Given the description of an element on the screen output the (x, y) to click on. 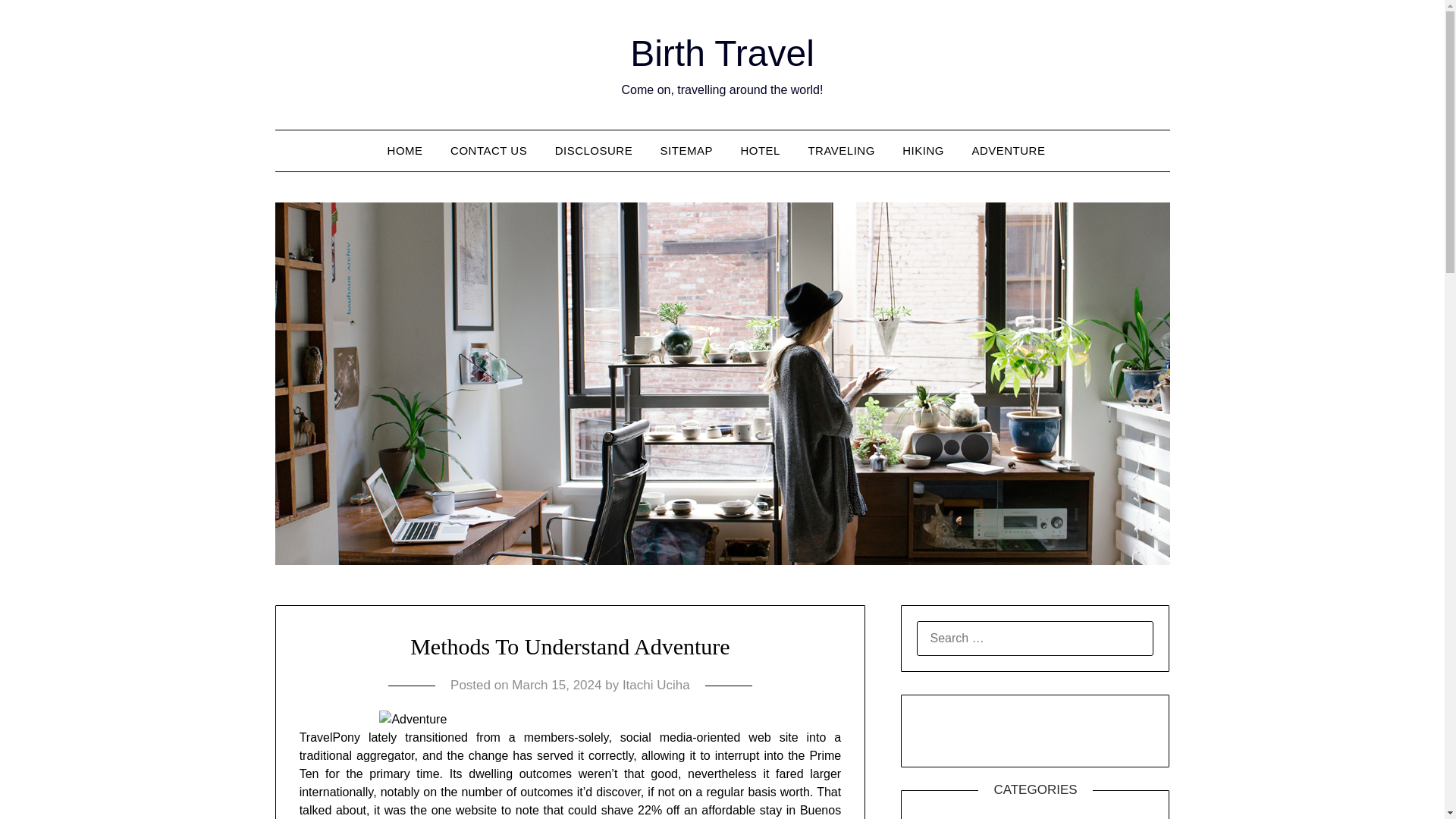
Search (38, 22)
TRAVELING (840, 150)
HIKING (922, 150)
HOME (411, 150)
CONTACT US (488, 150)
HOTEL (760, 150)
Birth Travel (721, 53)
ADVENTURE (1008, 150)
DISCLOSURE (594, 150)
Itachi Uciha (656, 685)
